Given the description of an element on the screen output the (x, y) to click on. 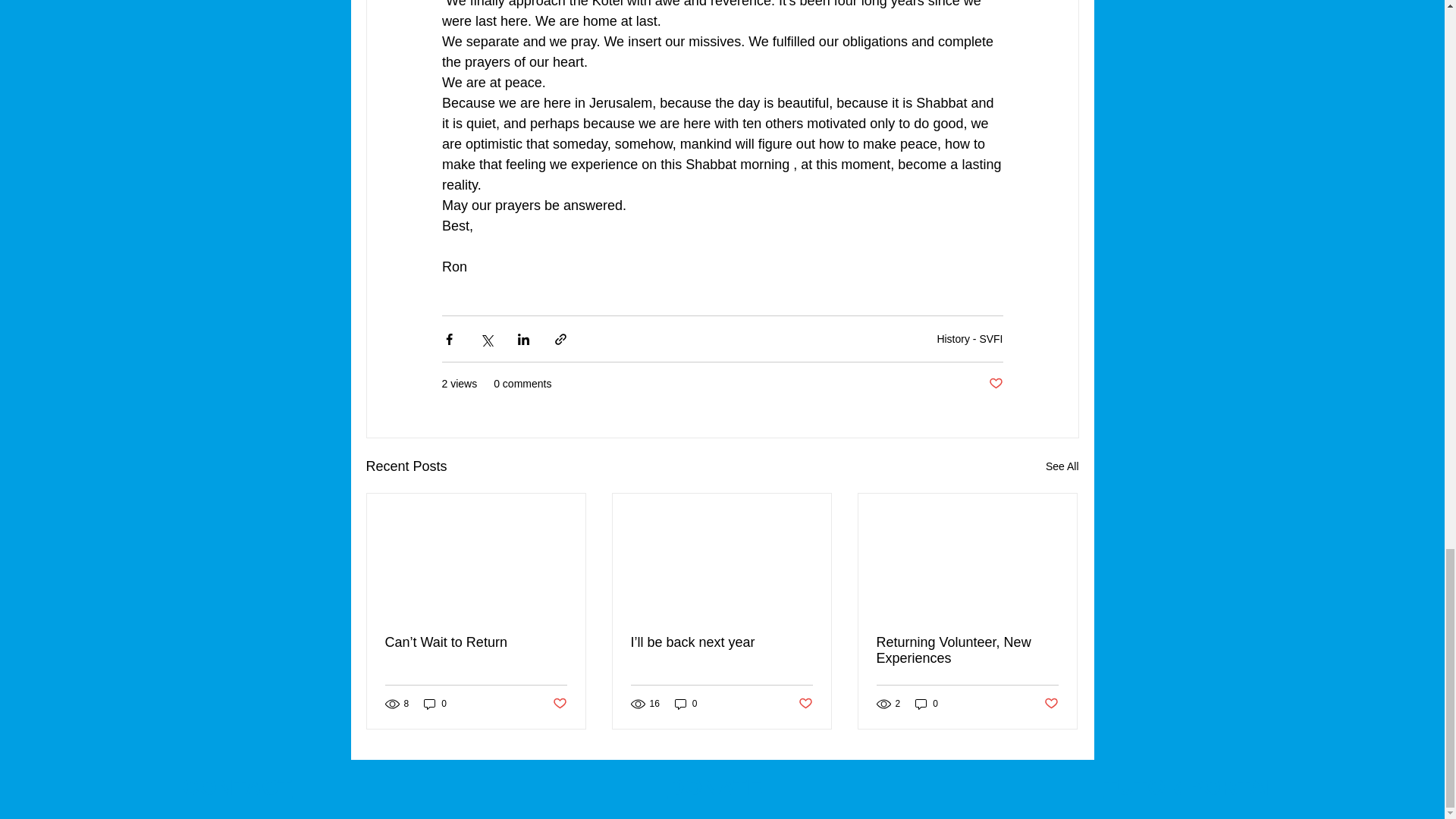
0 (685, 703)
TUTOR PORTAL (1191, 786)
History - SVFI (969, 338)
Post not marked as liked (558, 703)
Post not marked as liked (804, 703)
Post not marked as liked (1050, 703)
0 (926, 703)
Post not marked as liked (995, 383)
See All (1061, 466)
Returning Volunteer, New Experiences (967, 650)
0 (435, 703)
CONTACT (237, 786)
DONATE (714, 786)
